Given the description of an element on the screen output the (x, y) to click on. 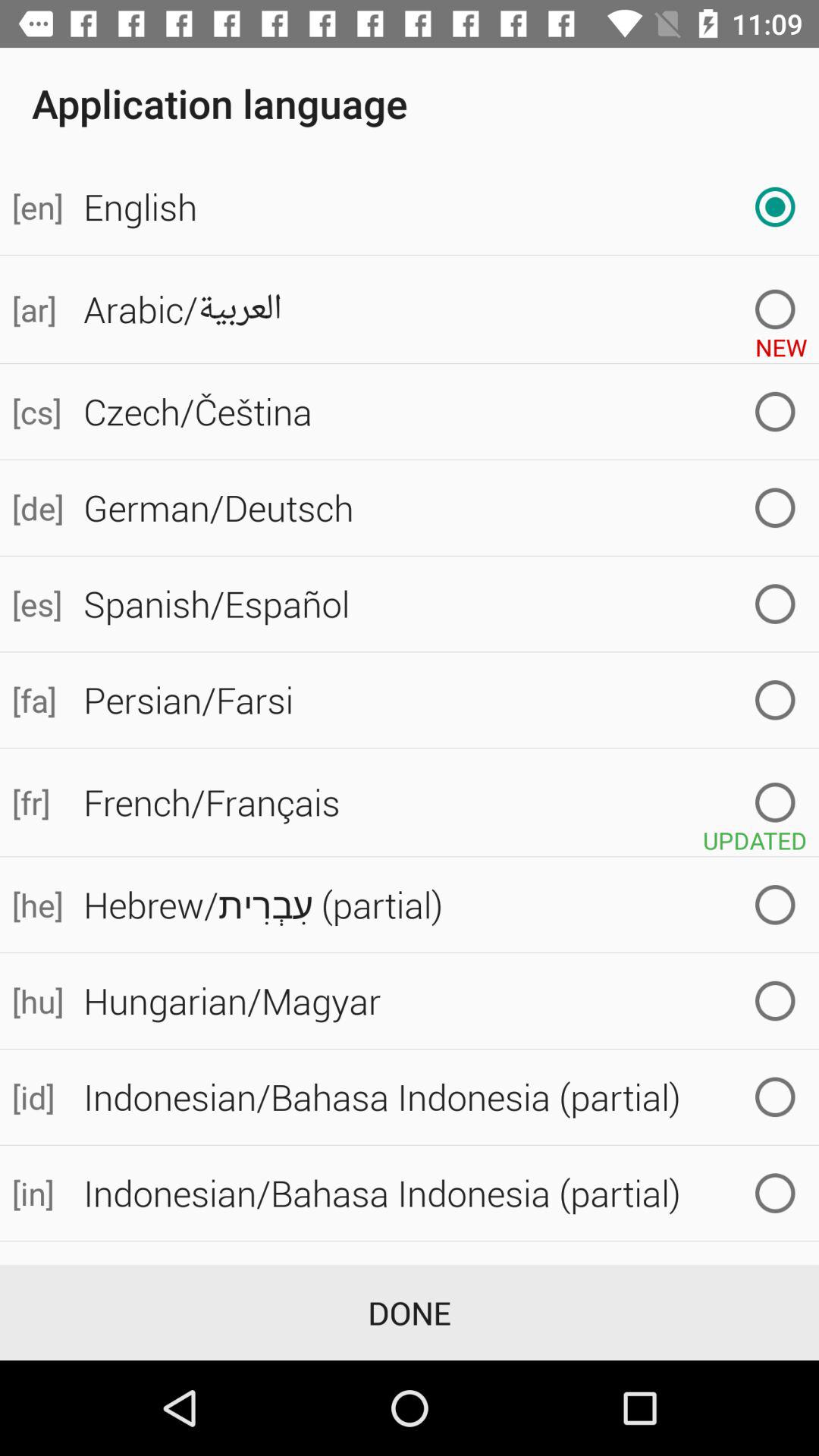
tap the item below english icon (35, 309)
